Given the description of an element on the screen output the (x, y) to click on. 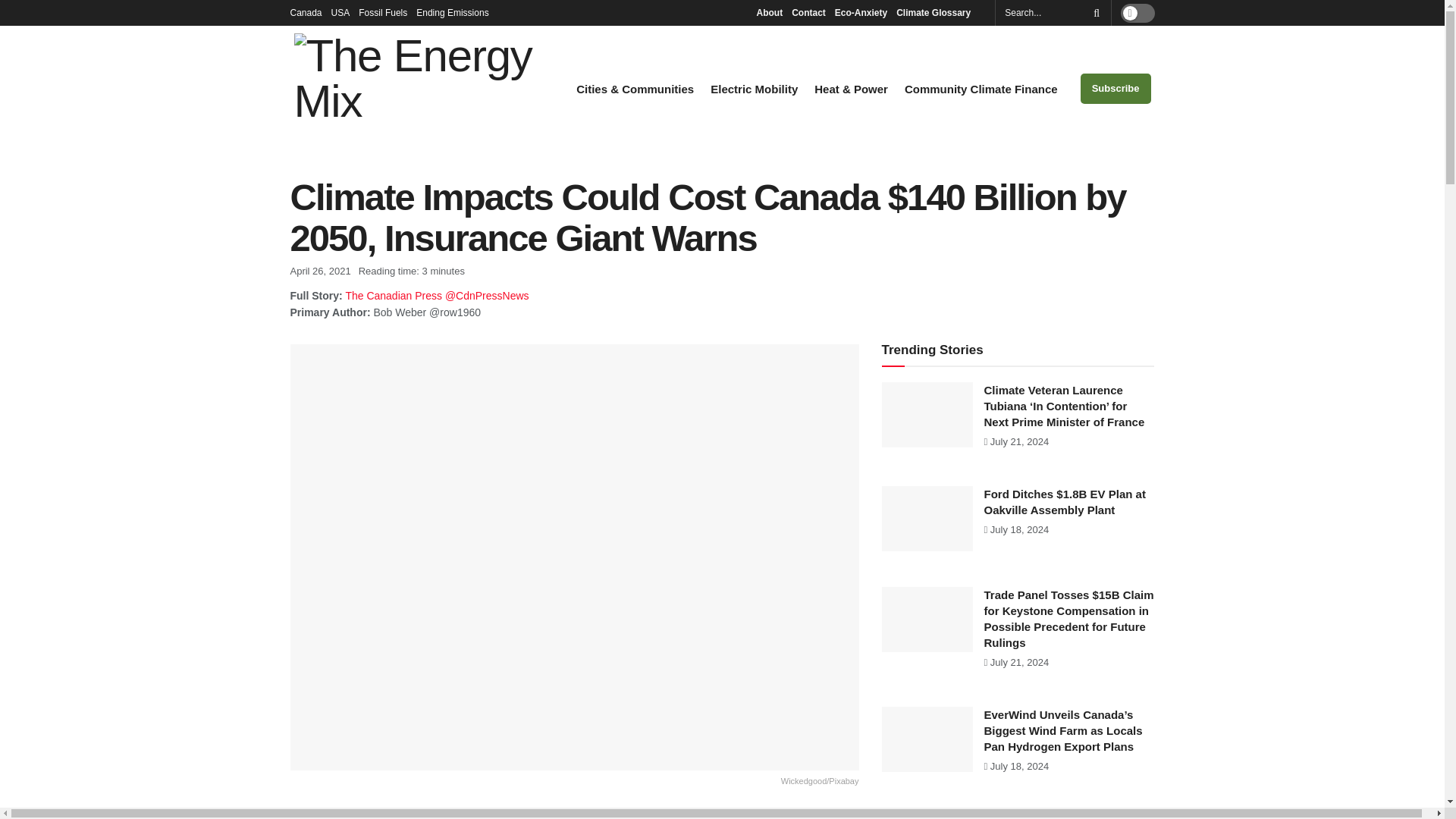
About (769, 12)
Fossil Fuels (382, 12)
Contact (808, 12)
Climate Glossary (937, 12)
Canada (305, 12)
Eco-Anxiety (860, 12)
Electric Mobility (753, 89)
Community Climate Finance (981, 89)
Ending Emissions (456, 12)
April 26, 2021 (319, 270)
USA (340, 12)
Subscribe (1115, 88)
